Given the description of an element on the screen output the (x, y) to click on. 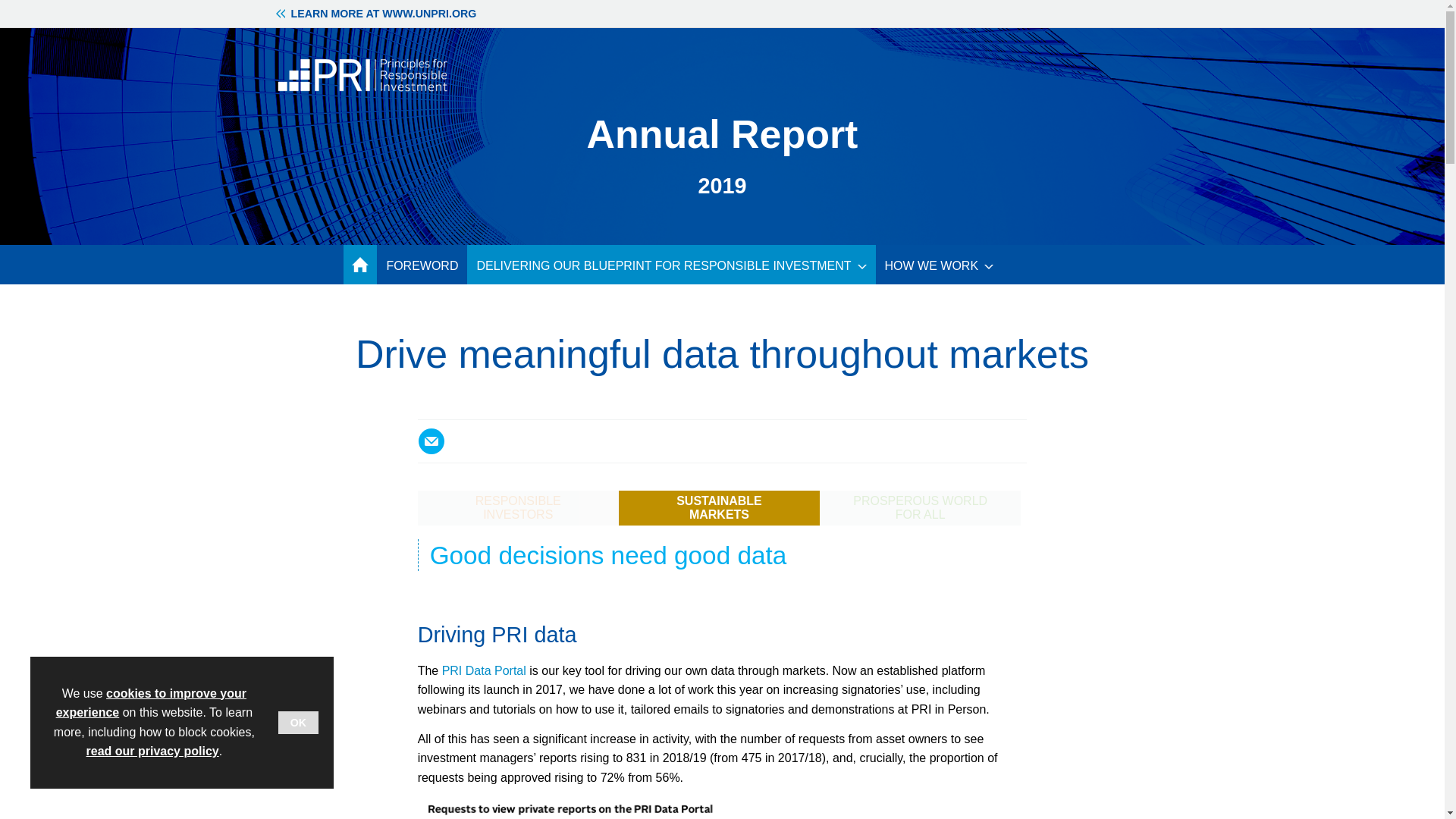
LEARN MORE AT WWW.UNPRI.ORG (375, 13)
read our privacy policy (152, 750)
OK (298, 722)
Email this article (431, 441)
cookies to improve your experience (151, 703)
